Given the description of an element on the screen output the (x, y) to click on. 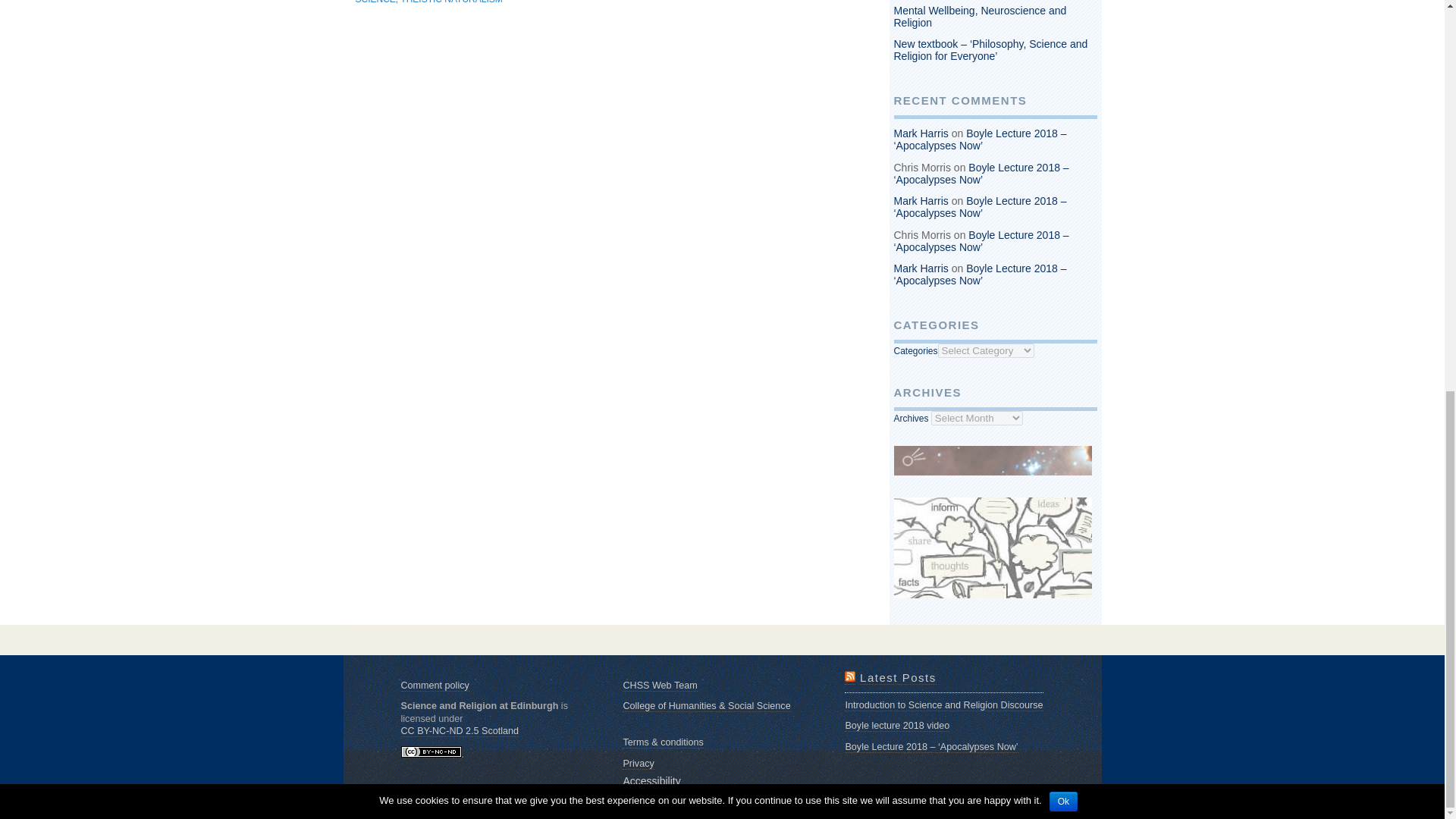
Accessibility statement for this platform (651, 780)
Terms and conditions of use (663, 742)
CC BY-NC-ND 2.5 Scotland (459, 731)
Mark Harris (920, 133)
Mark Harris (920, 200)
Mark Harris (920, 268)
Comment policy (434, 685)
THEISTIC NATURALISM (451, 2)
Mental Wellbeing, Neuroscience and Religion (979, 16)
College website (706, 706)
